Given the description of an element on the screen output the (x, y) to click on. 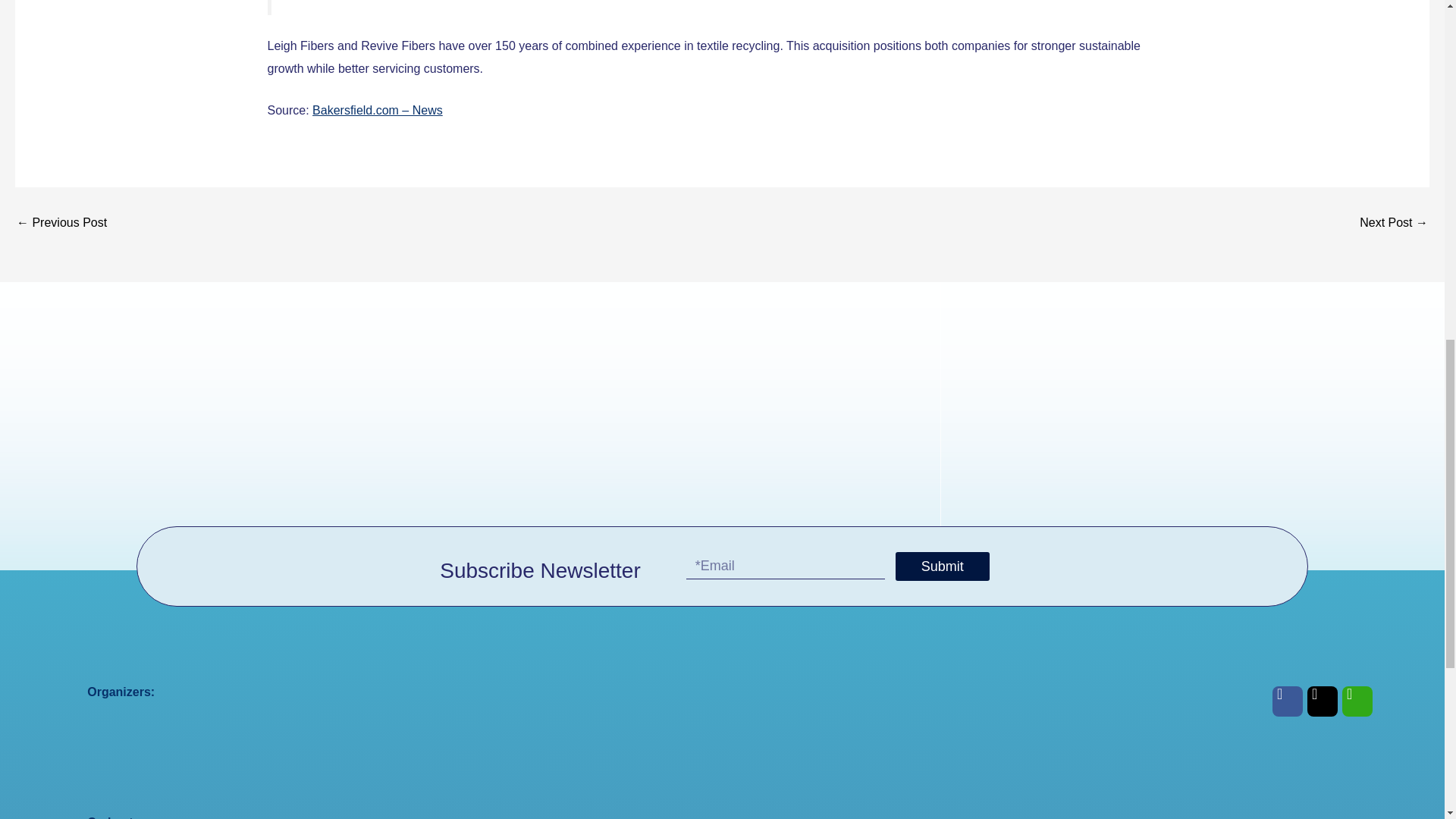
Drylock to open new plant in North Carolina (1393, 223)
